Given the description of an element on the screen output the (x, y) to click on. 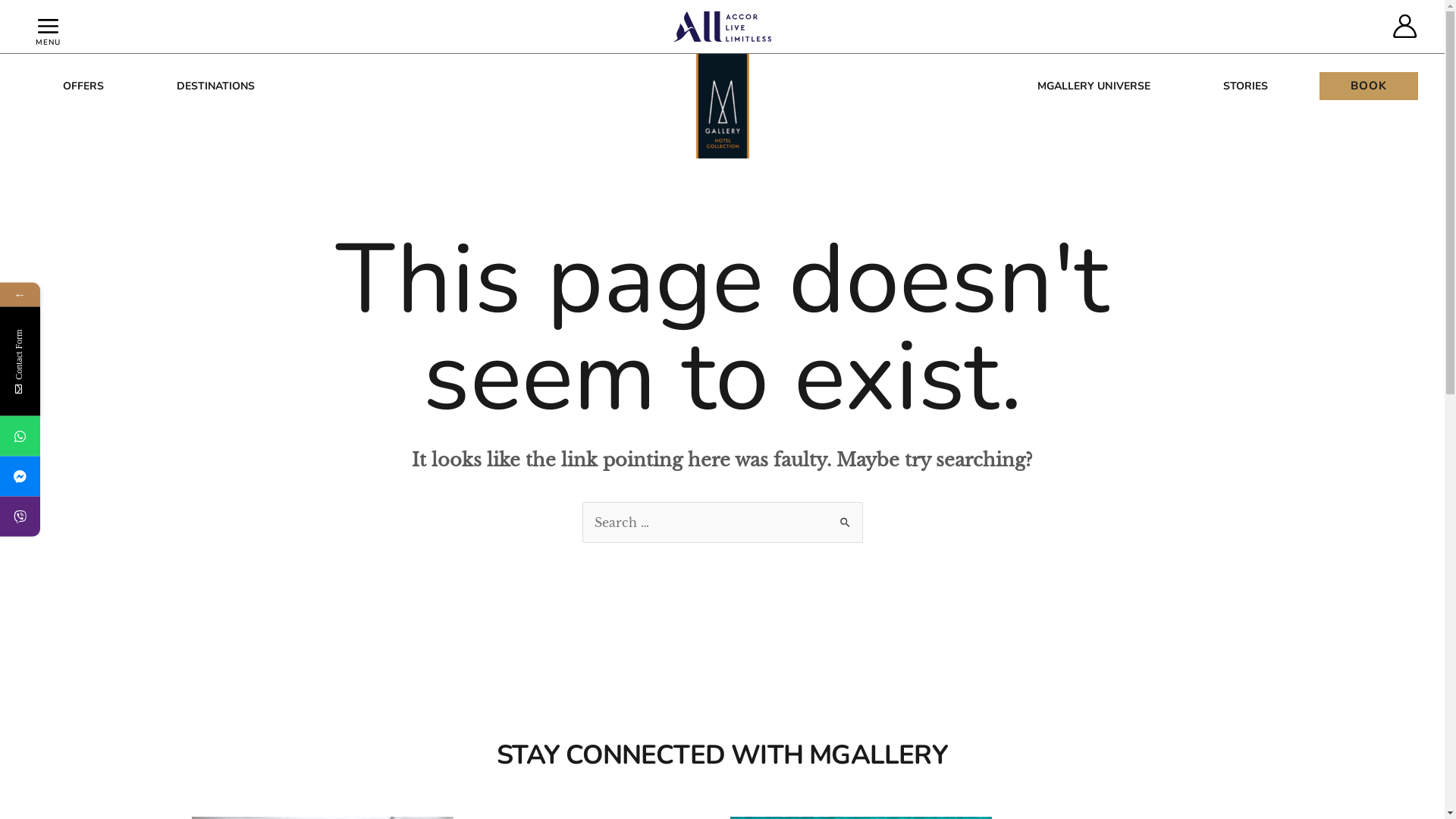
DESTINATIONS Element type: text (215, 85)
Search Element type: text (845, 517)
WhatsApp Element type: text (92, 435)
Facebook Messenger Element type: text (93, 476)
MAIN MENU
MENU Element type: text (47, 26)
MGALLERY UNIVERSE Element type: text (1093, 85)
STORIES Element type: text (1245, 85)
Viber Element type: text (92, 515)
+38761263456 Element type: hover (20, 435)
38761263456 Element type: hover (20, 515)
Send Element type: text (196, 594)
mgallerysarajevo Element type: hover (20, 476)
OFFERS Element type: text (83, 85)
BOOK Element type: text (1368, 86)
